Given the description of an element on the screen output the (x, y) to click on. 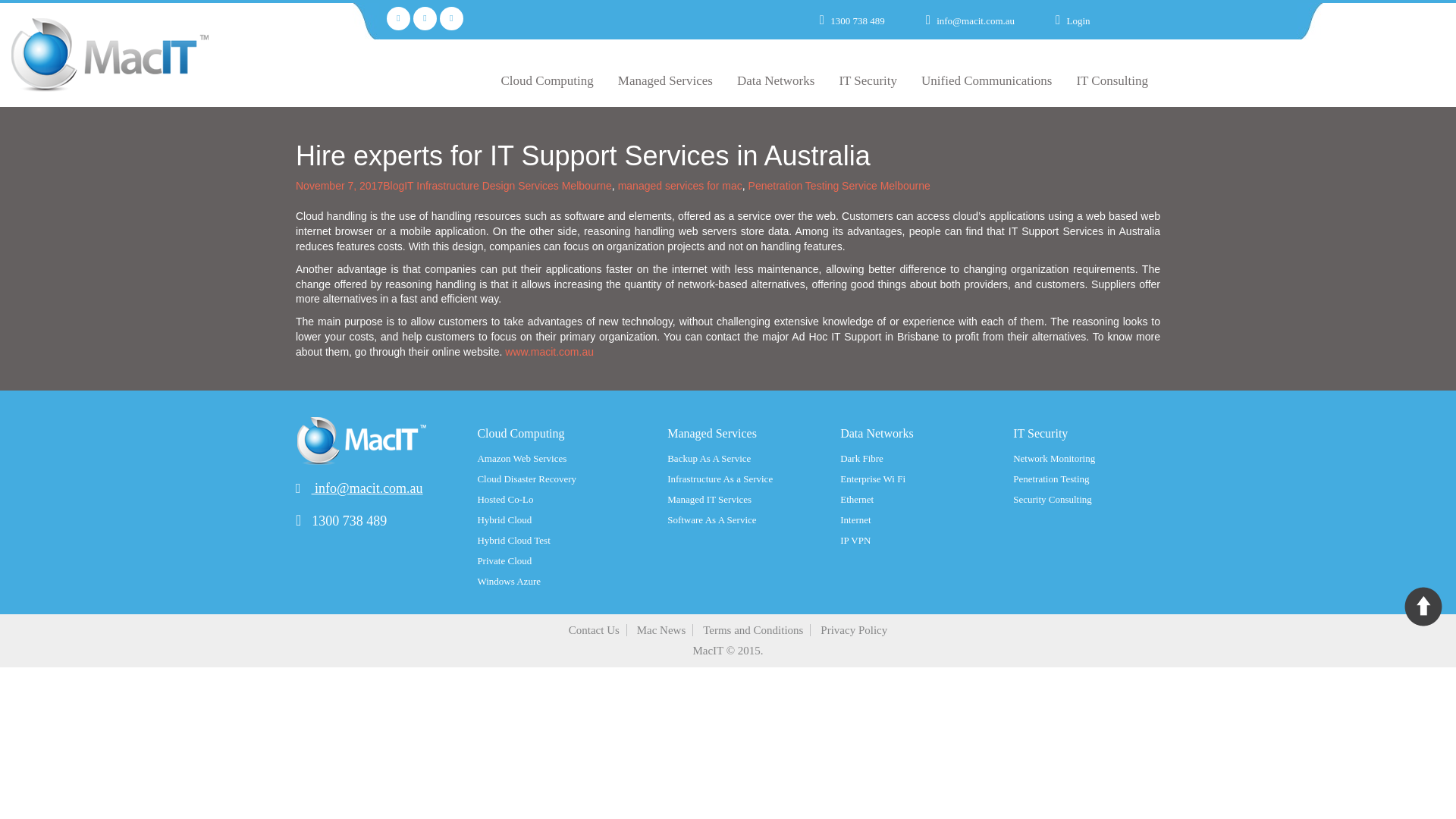
Data Networks (776, 80)
Cloud Computing (546, 80)
IT Security (867, 80)
November 7, 2017 (338, 185)
Unified Communications (986, 80)
IT Consulting (1112, 80)
Managed Services (665, 80)
